Given the description of an element on the screen output the (x, y) to click on. 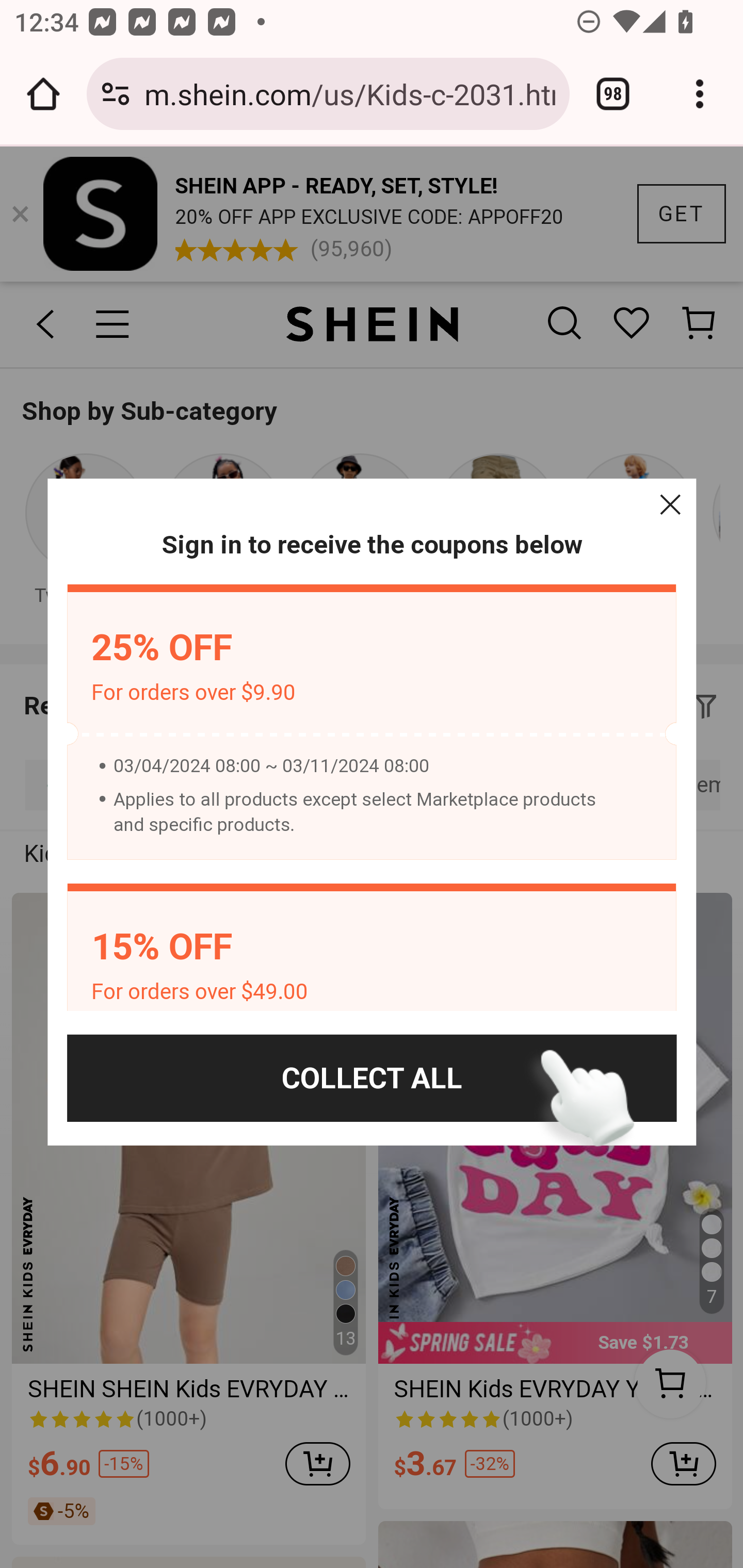
Open the home page (43, 93)
Connection is secure (115, 93)
Switch or close tabs (612, 93)
Customize and control Google Chrome (699, 93)
COLLECT ALL (371, 1077)
